Given the description of an element on the screen output the (x, y) to click on. 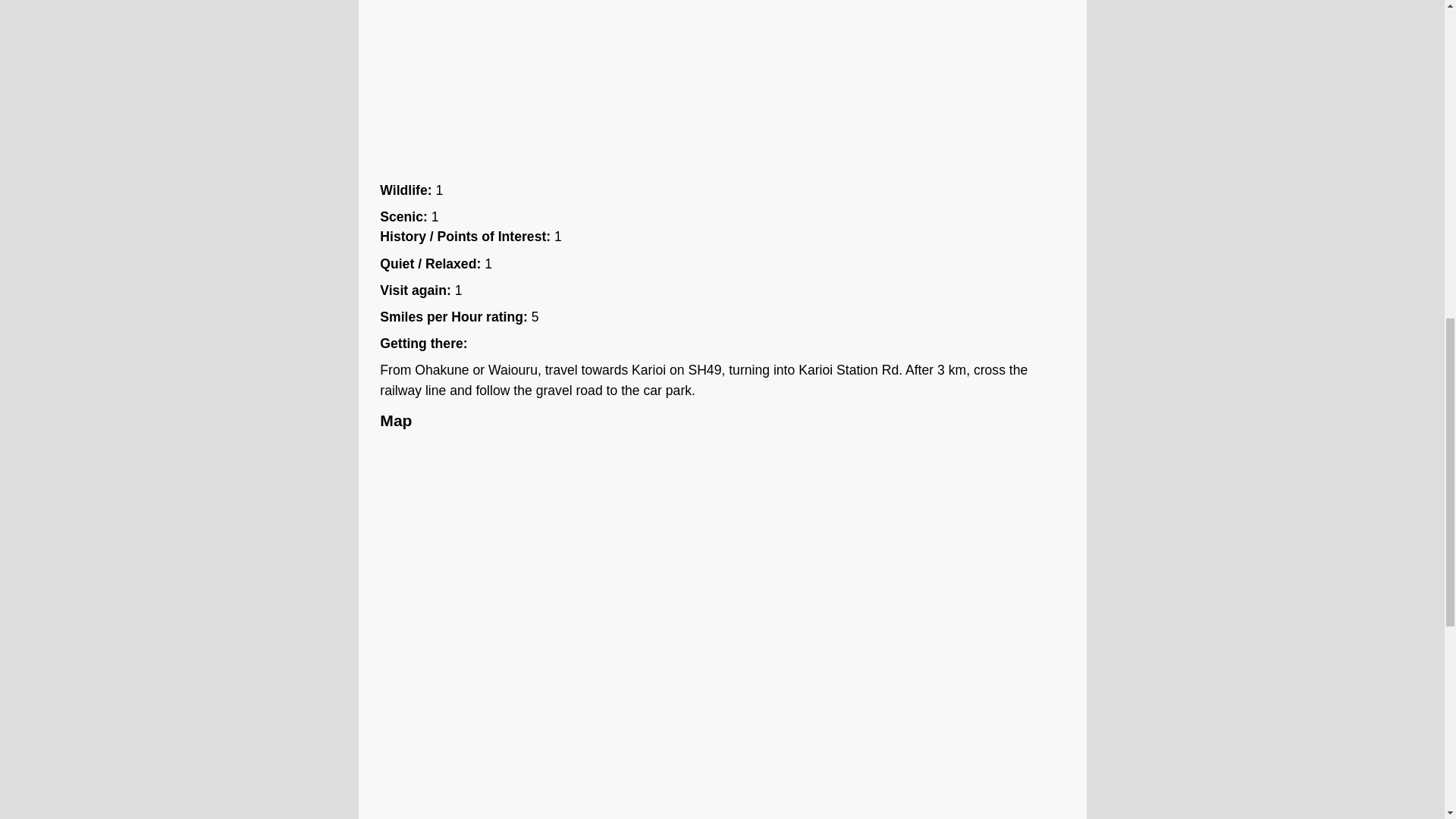
YouTube video player (592, 86)
